Given the description of an element on the screen output the (x, y) to click on. 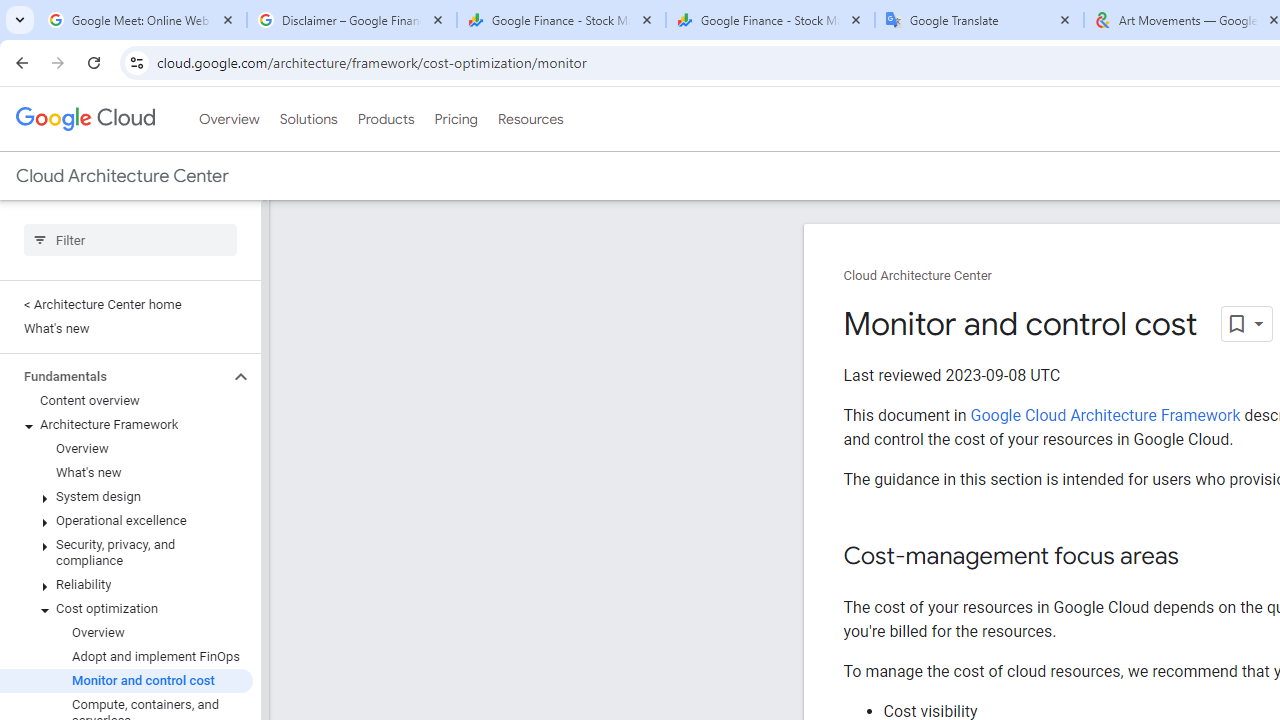
Operational excellence (126, 520)
Resources (530, 119)
Fundamentals (114, 376)
Reliability (126, 584)
Cloud Architecture Center (917, 276)
Architecture Framework (126, 425)
Google Cloud (84, 118)
< Architecture Center home (126, 304)
